Given the description of an element on the screen output the (x, y) to click on. 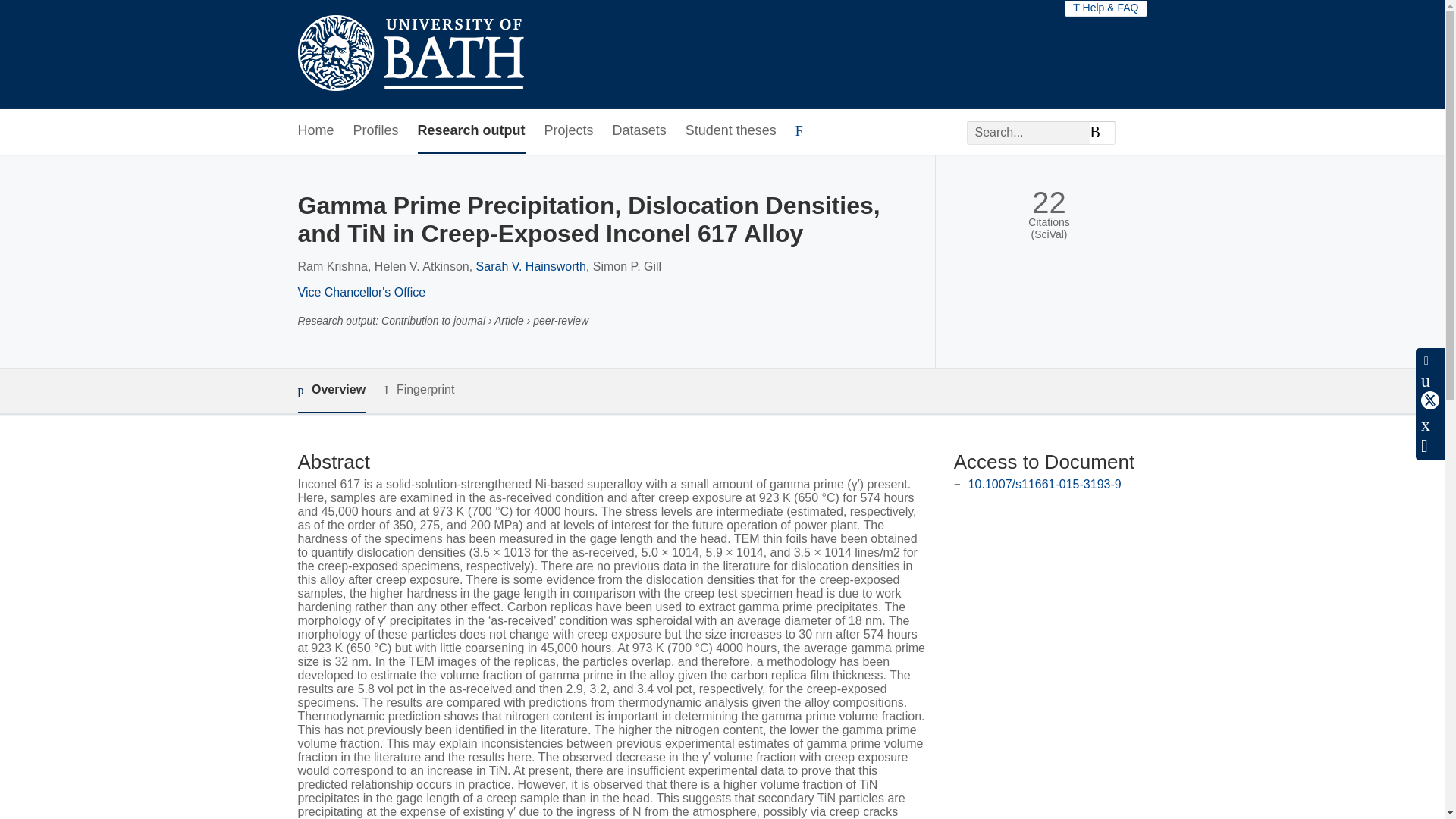
Fingerprint (419, 389)
Student theses (730, 130)
Vice Chancellor's Office (361, 291)
Sarah V. Hainsworth (531, 266)
the University of Bath's research portal Home (409, 54)
Datasets (639, 130)
Research output (471, 130)
Overview (331, 390)
Projects (569, 130)
Profiles (375, 130)
